Given the description of an element on the screen output the (x, y) to click on. 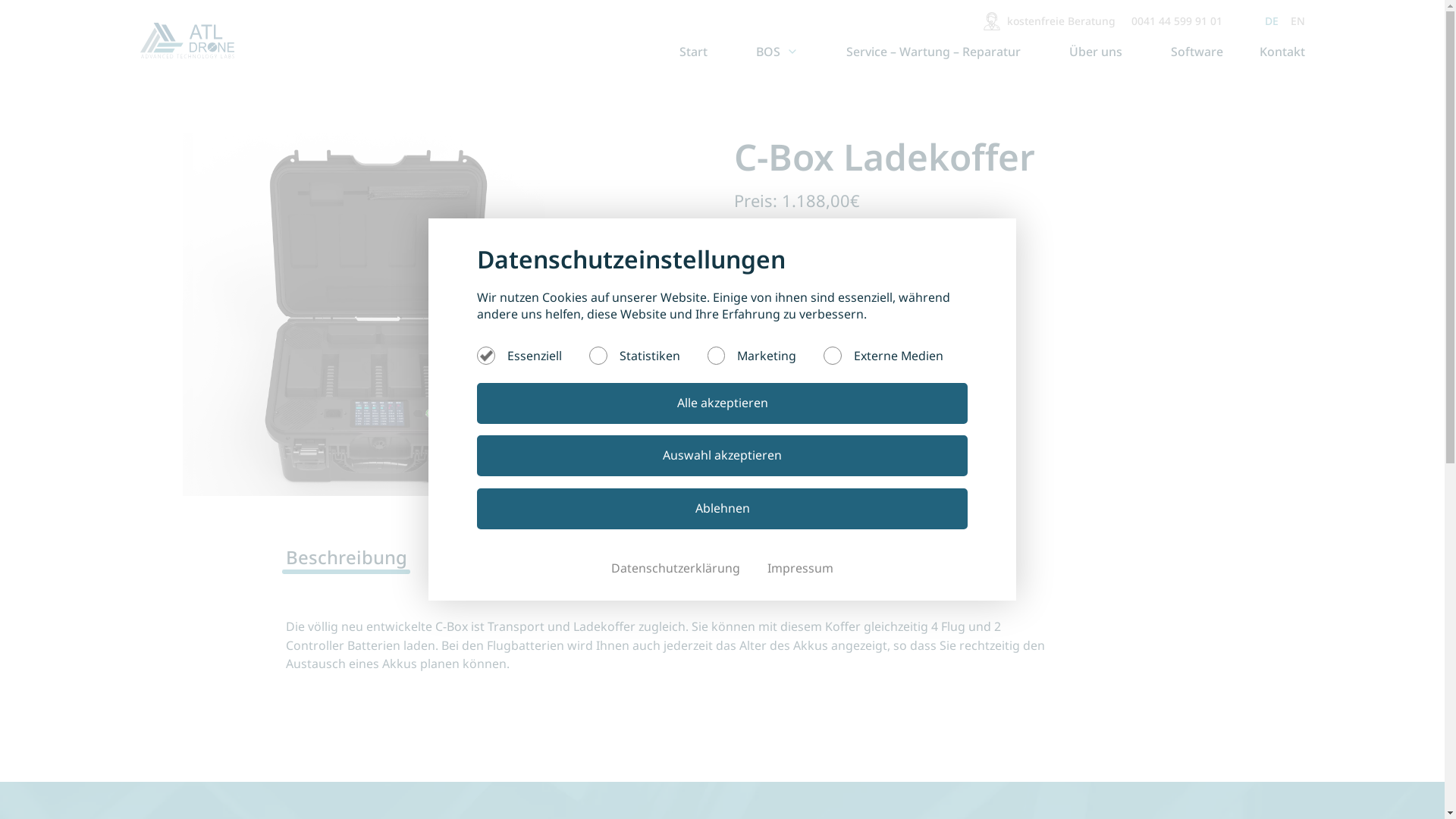
EN Element type: text (1297, 20)
Kontakt Element type: text (1276, 51)
kostenfreie Beratung
0041 44 599 91 01 Element type: text (1102, 21)
Beschreibung Element type: text (394, 556)
DE Element type: text (1271, 20)
Alle akzeptieren Element type: text (721, 402)
In den Warenkorb Element type: text (847, 435)
Auswahl akzeptieren Element type: text (721, 455)
Software Element type: text (1196, 51)
BOS Element type: text (776, 51)
Start Element type: text (693, 51)
Ablehnen Element type: text (721, 508)
Impressum Element type: text (800, 567)
Menge Element type: hover (777, 380)
